Given the description of an element on the screen output the (x, y) to click on. 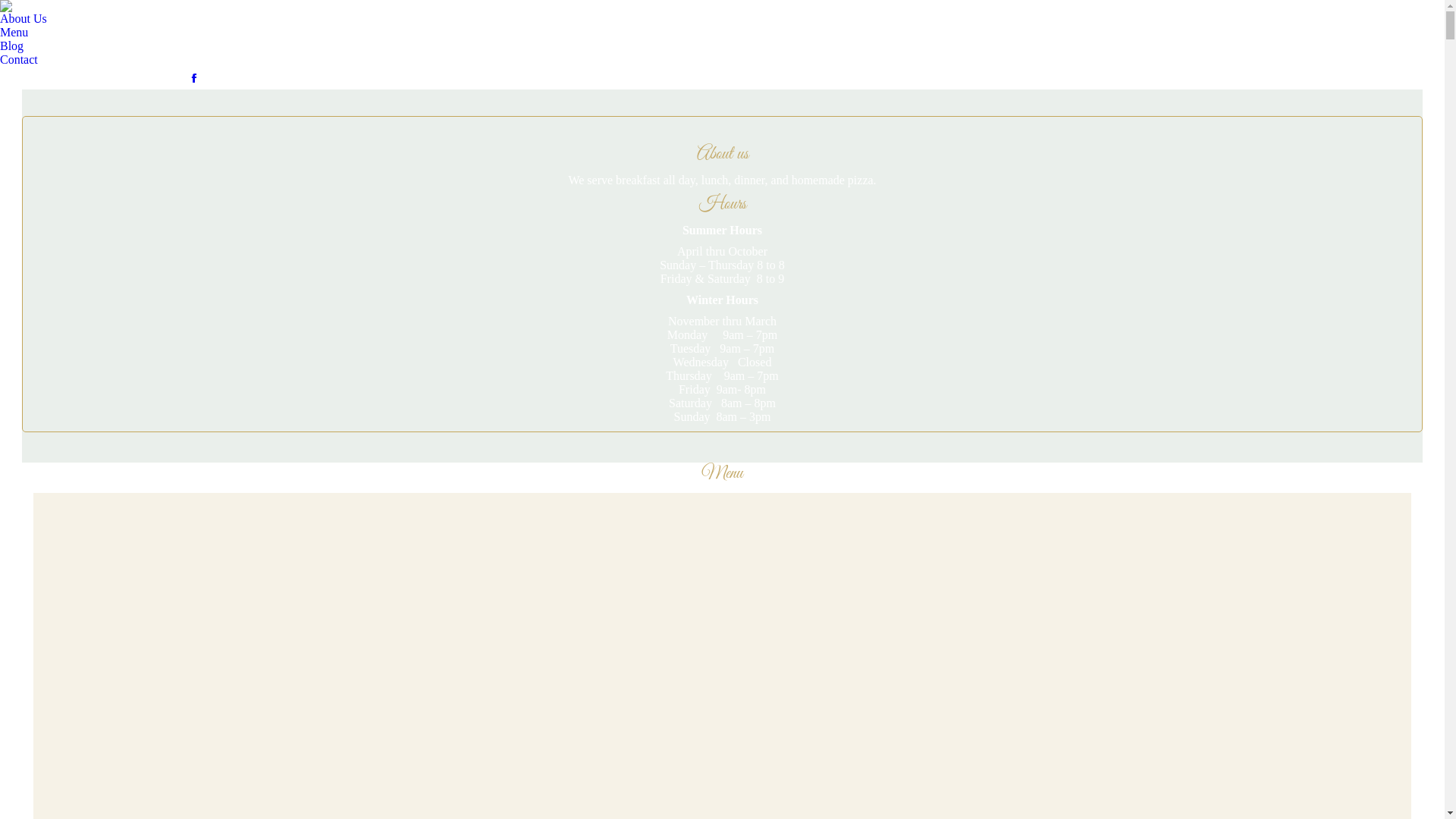
Menu Element type: text (14, 32)
Facebook Element type: text (193, 77)
About Us Element type: text (23, 18)
Blog Element type: text (11, 46)
Contact Element type: text (18, 59)
